Given the description of an element on the screen output the (x, y) to click on. 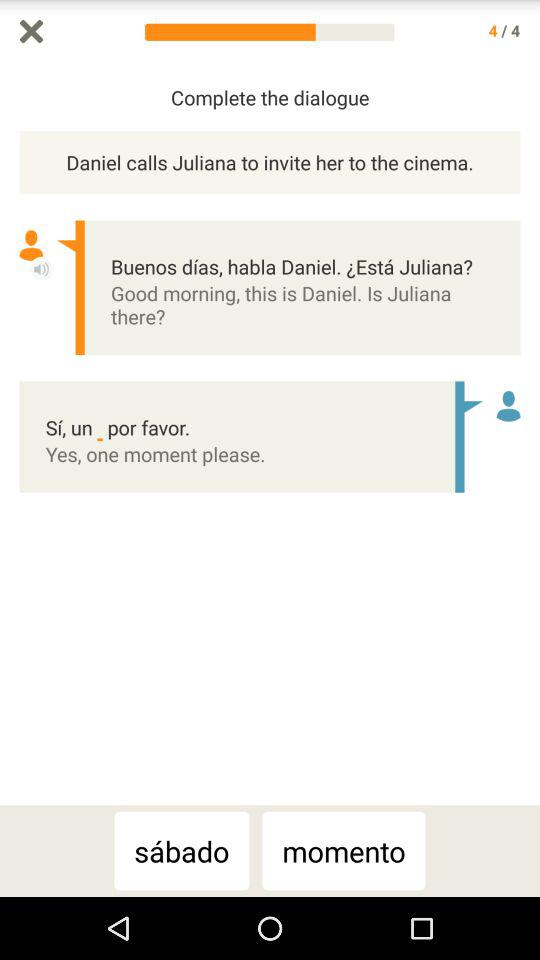
choose item below the 4 app (530, 434)
